Given the description of an element on the screen output the (x, y) to click on. 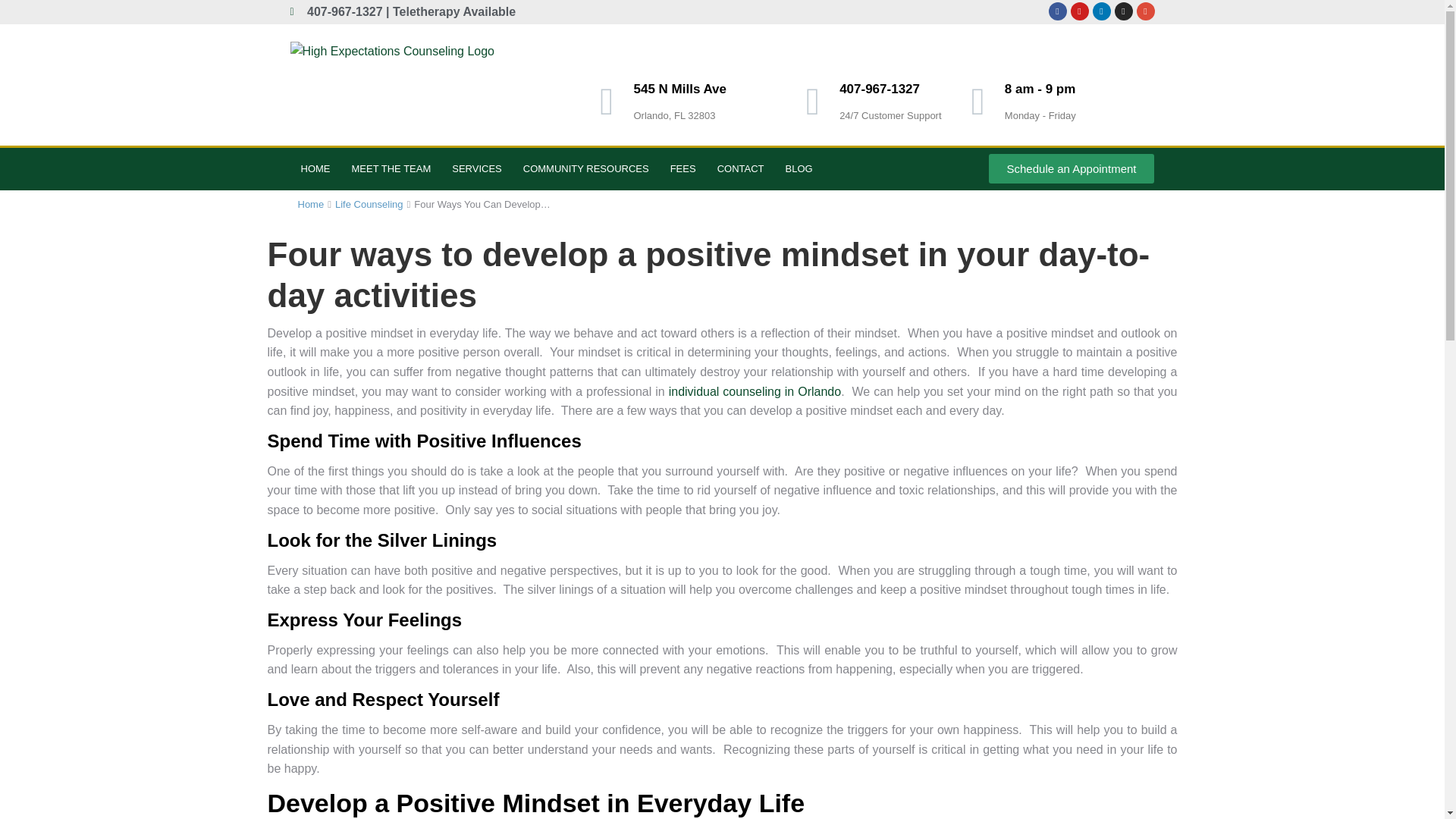
407-967-1327 (880, 88)
MEET THE TEAM (391, 169)
SERVICES (476, 169)
545 N Mills Ave (679, 88)
HOME (314, 169)
Counseling Services (476, 169)
